Given the description of an element on the screen output the (x, y) to click on. 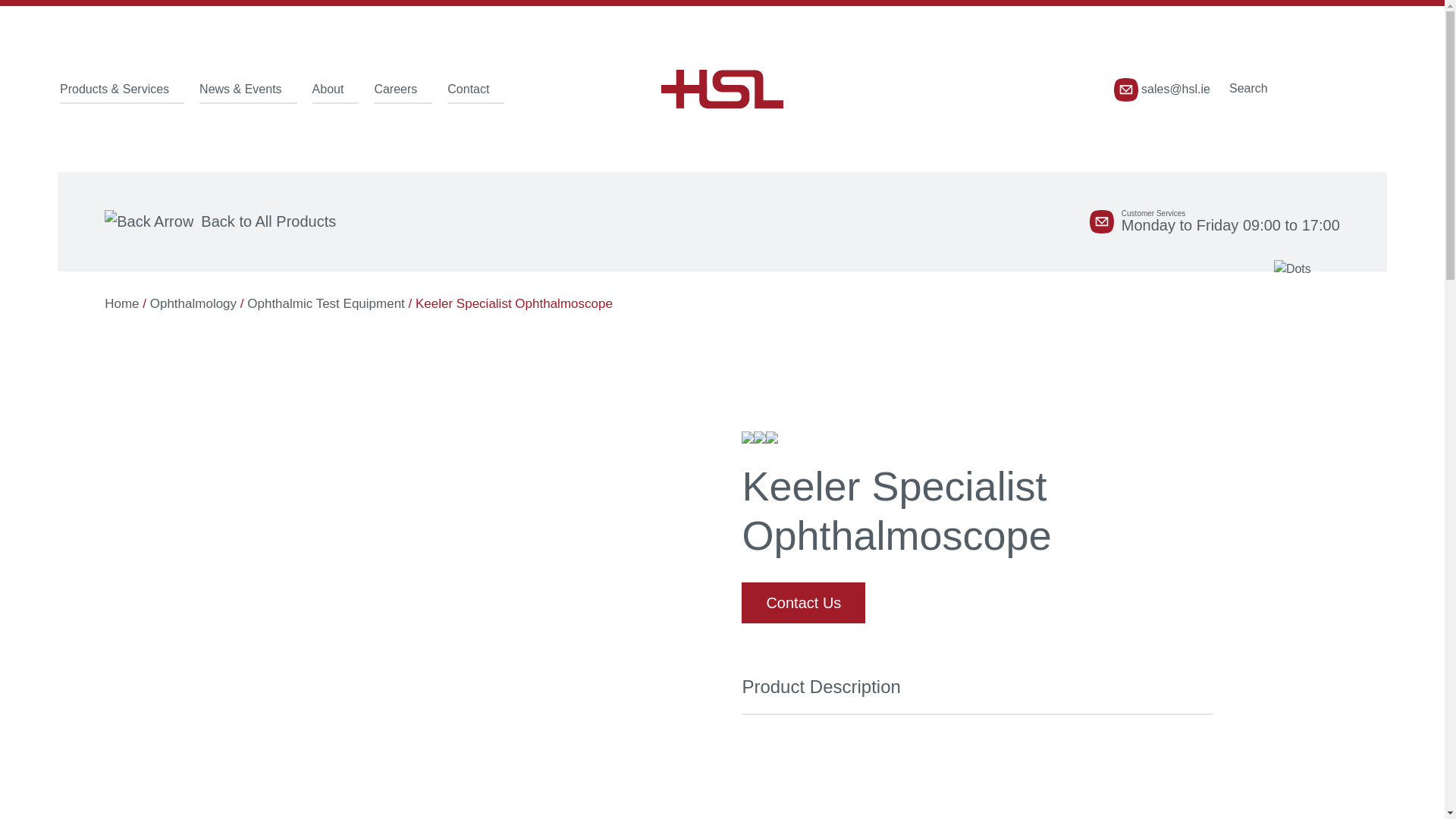
About (336, 89)
Careers (403, 89)
Contact (474, 89)
